Given the description of an element on the screen output the (x, y) to click on. 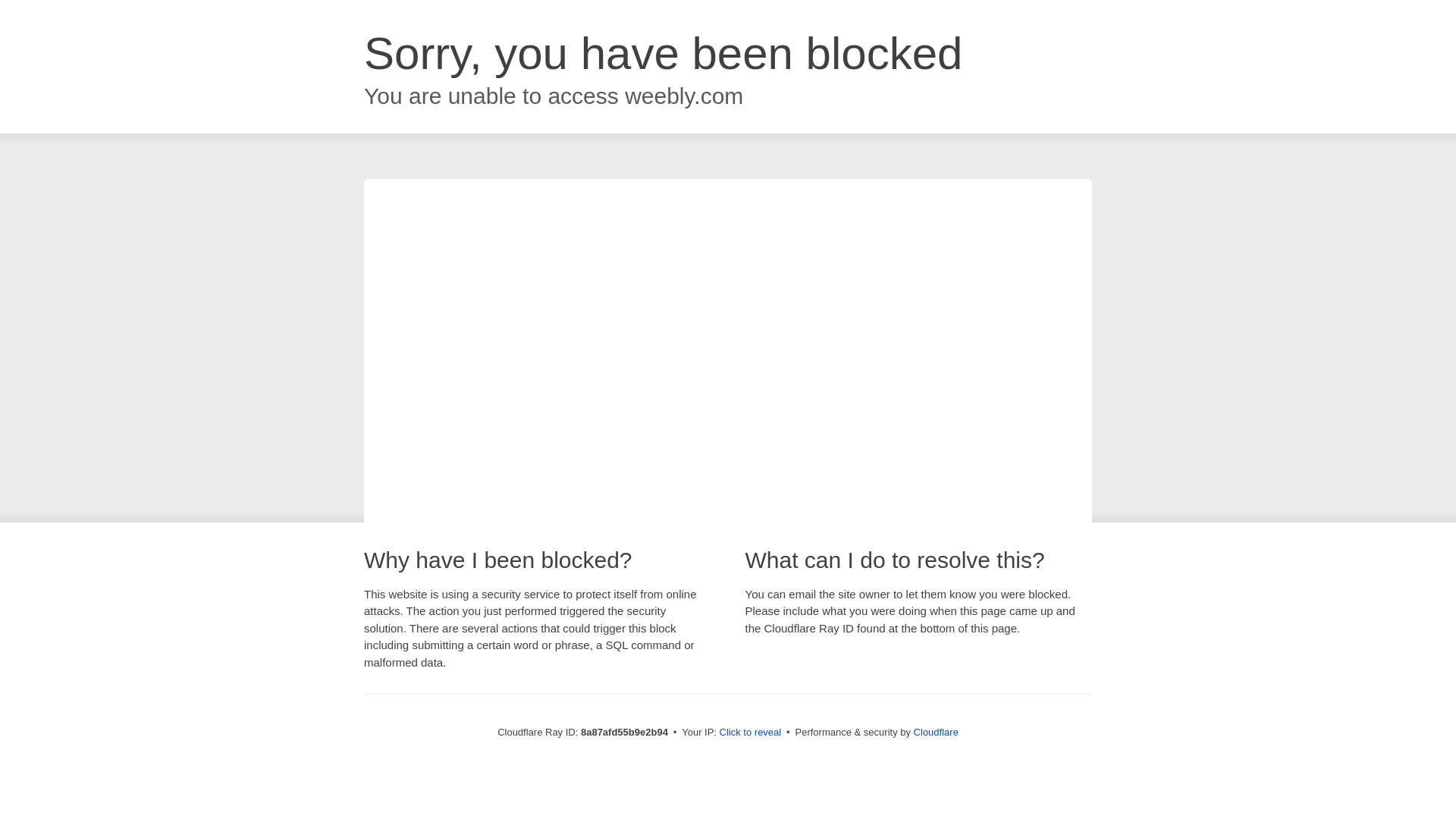
Click to reveal (750, 732)
Cloudflare (936, 731)
